Given the description of an element on the screen output the (x, y) to click on. 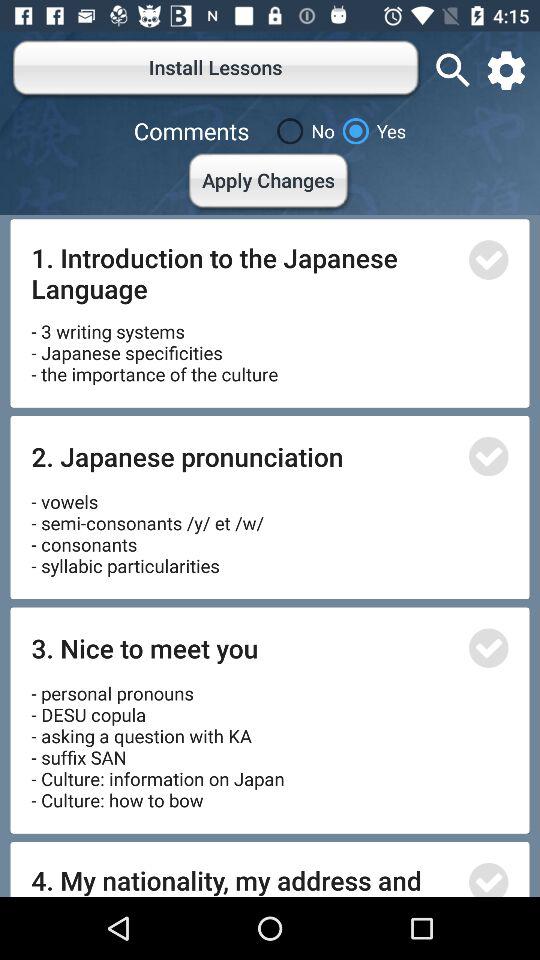
choose the 4 my nationality item (243, 879)
